Given the description of an element on the screen output the (x, y) to click on. 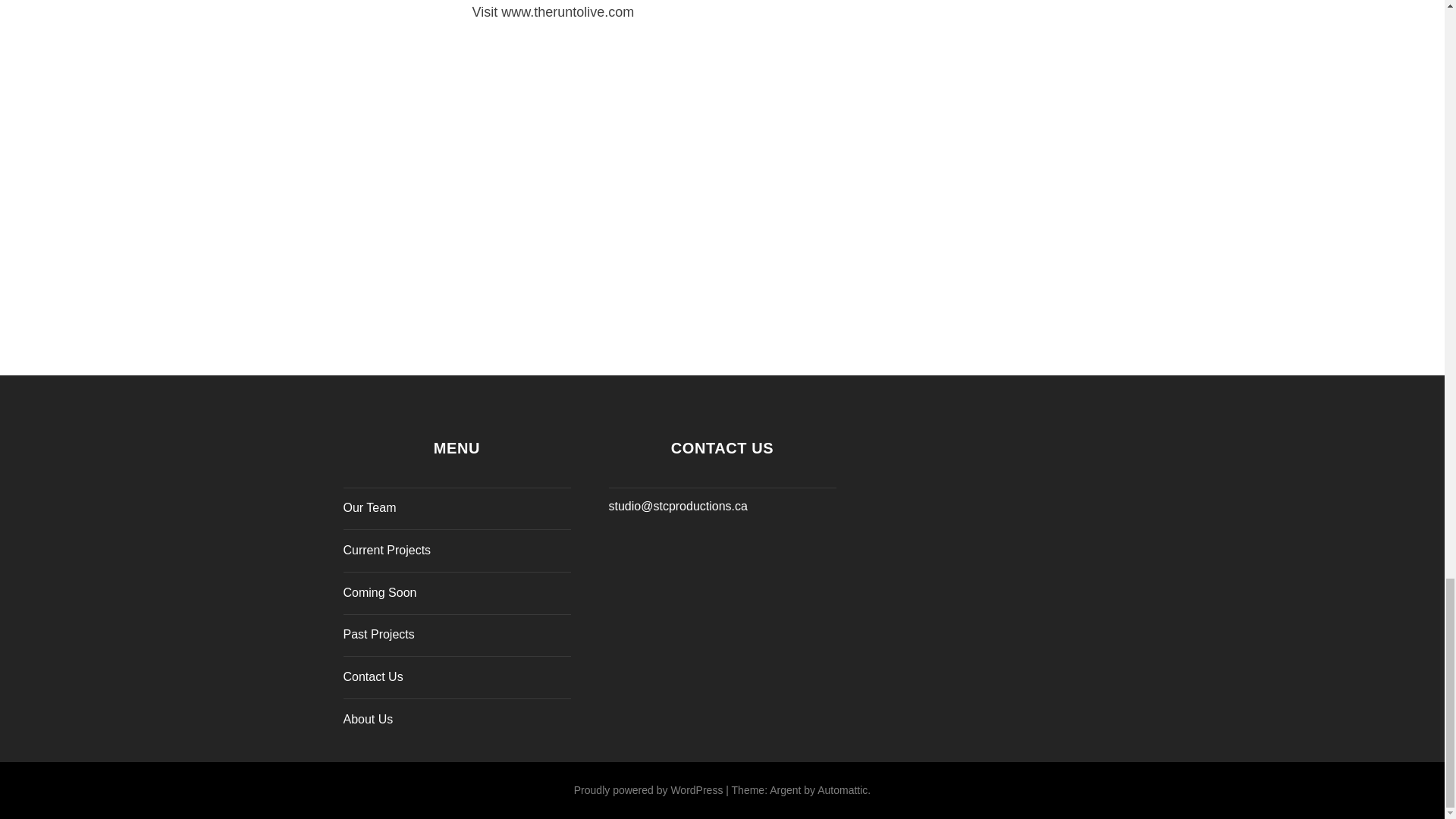
Contact Us (372, 676)
About Us (367, 718)
Current Projects (386, 549)
Coming Soon (379, 592)
Proudly powered by WordPress (648, 789)
Our Team (369, 507)
Past Projects (377, 634)
Automattic (841, 789)
